Given the description of an element on the screen output the (x, y) to click on. 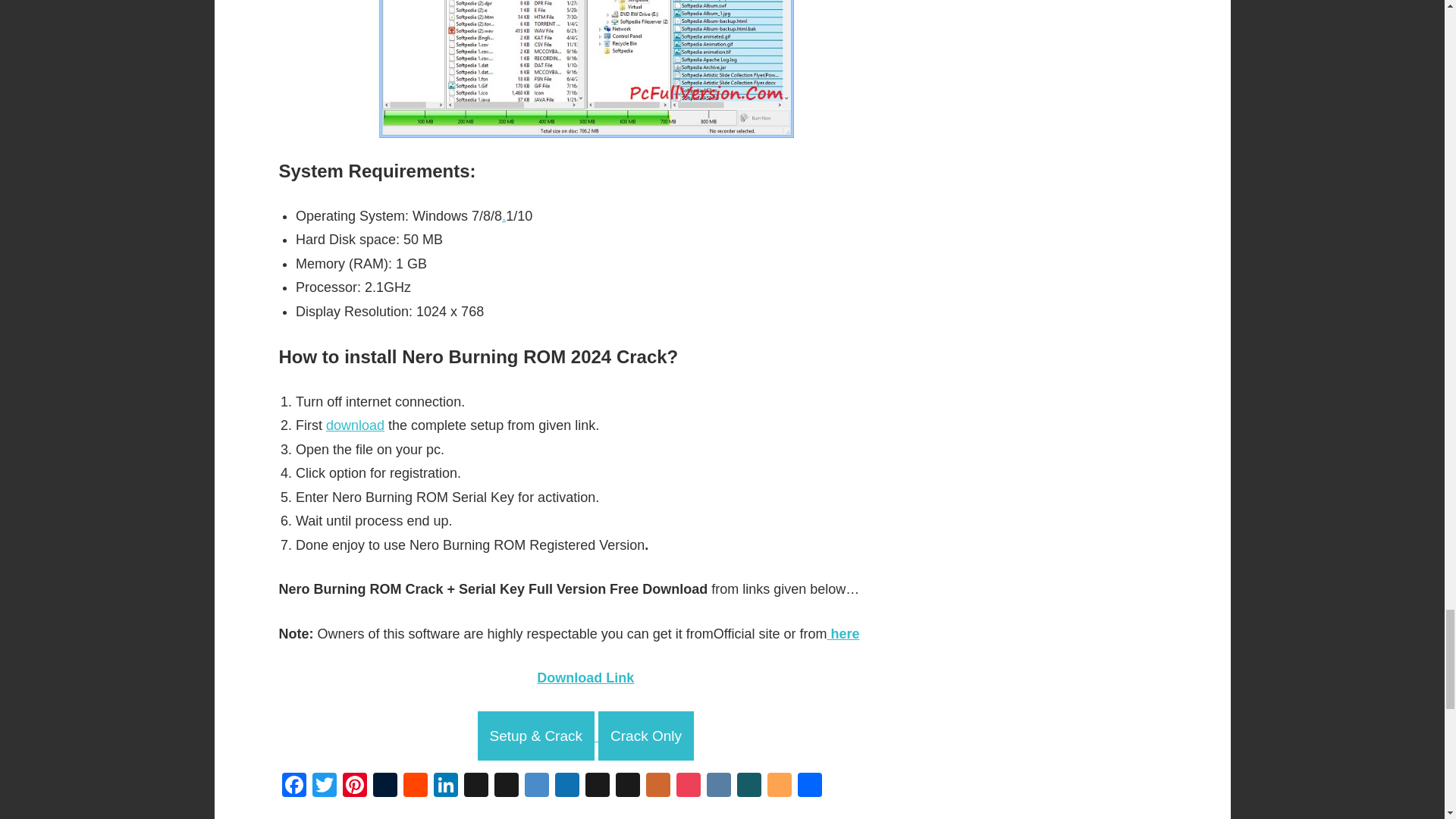
Pinterest (354, 786)
Pinterest (354, 786)
Instapaper (597, 786)
Tumblr (384, 786)
MySpace (627, 786)
LinkedIn (445, 786)
Reddit (415, 786)
Facebook (293, 786)
download (355, 425)
Crack Only (646, 735)
Folkd (566, 786)
Digg (506, 786)
LinkedIn (445, 786)
Download Link (585, 677)
 here (843, 633)
